Given the description of an element on the screen output the (x, y) to click on. 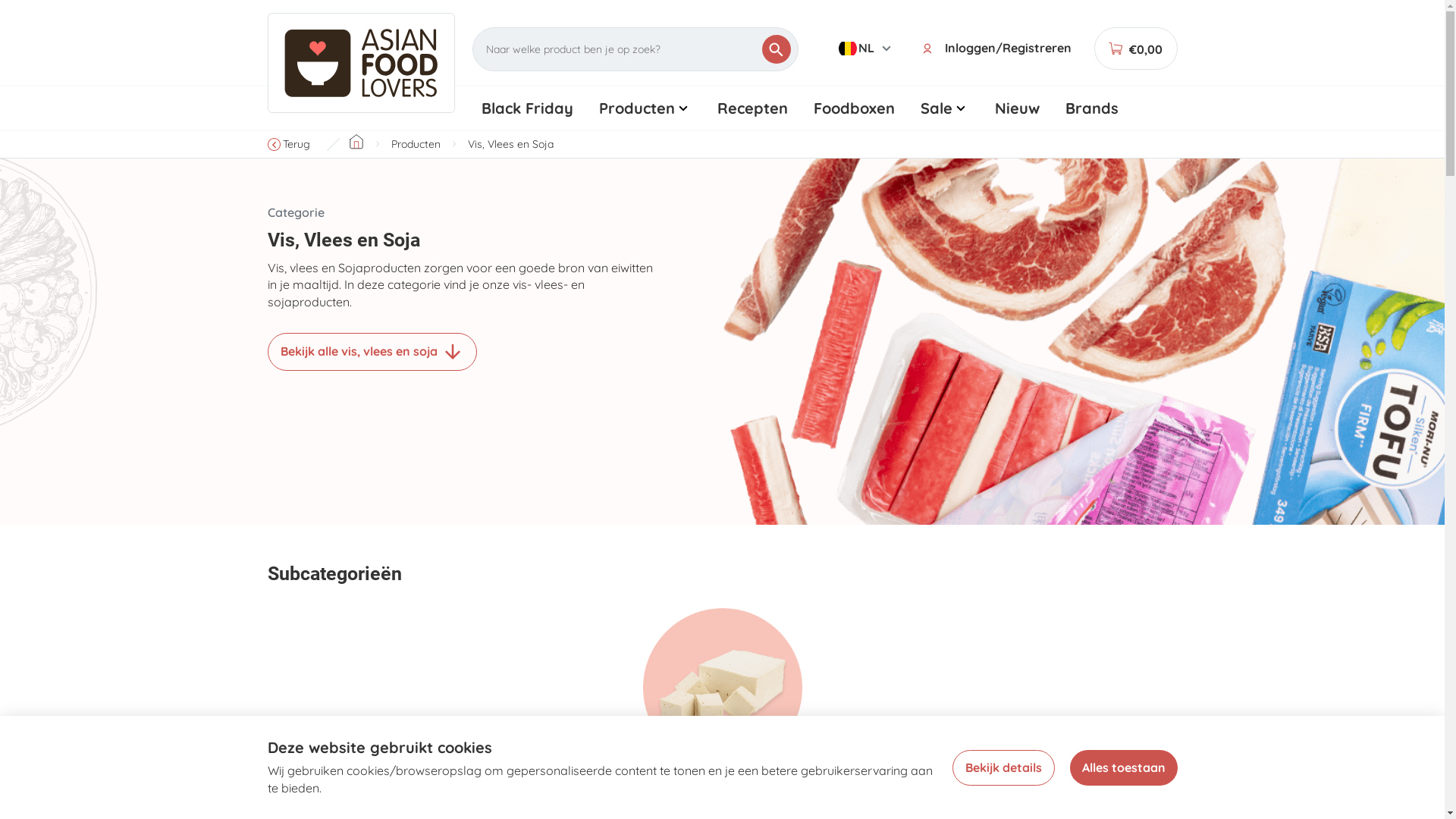
Alles toestaan Element type: text (1122, 767)
Terug Element type: text (291, 143)
Sale Element type: text (943, 107)
Brands Element type: text (1090, 107)
Vis, Vlees en Soja Element type: text (509, 143)
Foodboxen Element type: text (854, 107)
NL Element type: text (866, 48)
Black Friday Element type: text (527, 107)
Soja Element type: text (721, 703)
Producten Element type: text (644, 107)
Producten Element type: text (415, 143)
Bekijk alle vis, vlees en soja Element type: text (371, 351)
Bekijk details Element type: text (1003, 767)
Inloggen/Registreren Element type: text (999, 48)
Recepten Element type: text (751, 107)
Nieuw Element type: text (1016, 107)
